Given the description of an element on the screen output the (x, y) to click on. 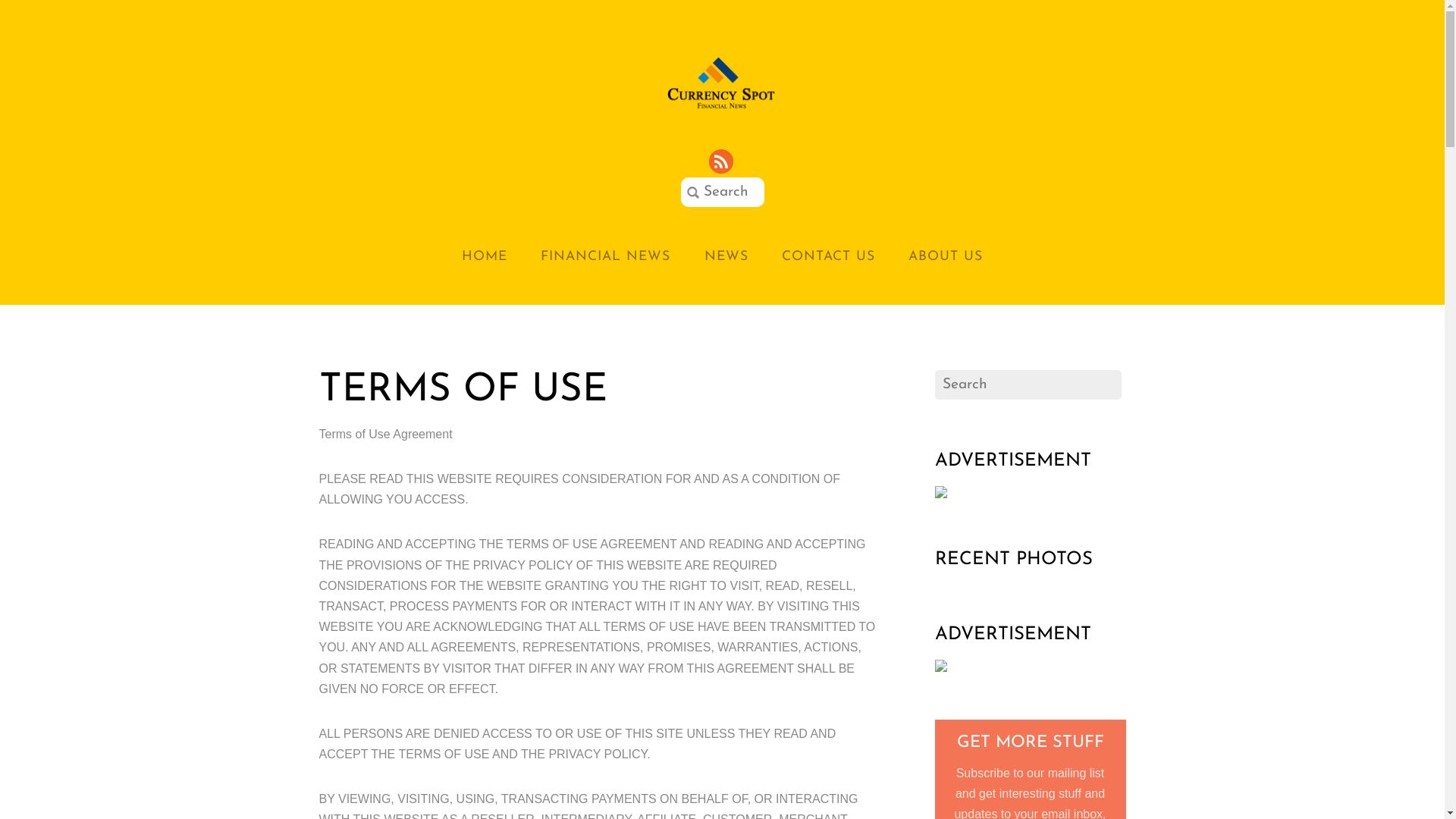
Currency Spot Element type: hover (722, 106)
NEWS Element type: text (725, 255)
RSS Element type: text (722, 161)
Currency Spot Element type: hover (722, 81)
CONTACT US Element type: text (828, 255)
HOME Element type: text (484, 255)
ABOUT US Element type: text (945, 255)
FINANCIAL NEWS Element type: text (605, 255)
